Given the description of an element on the screen output the (x, y) to click on. 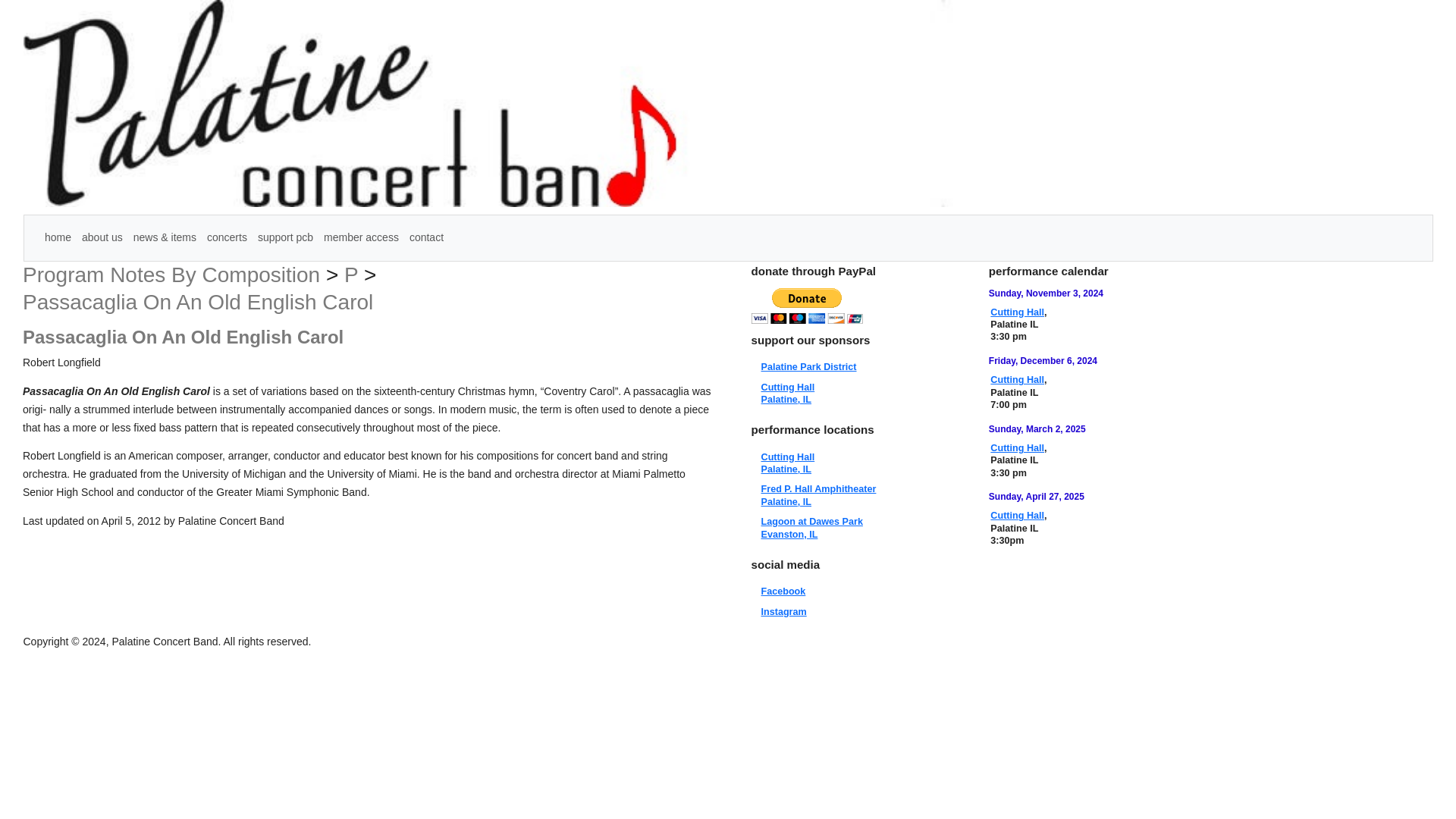
member access (361, 237)
Cutting Hall (788, 463)
Cutting Hall (1016, 312)
Passacaglia On An Old English Carol (818, 495)
concerts (812, 527)
Instagram (1016, 515)
Cutting Hall (197, 301)
